Given the description of an element on the screen output the (x, y) to click on. 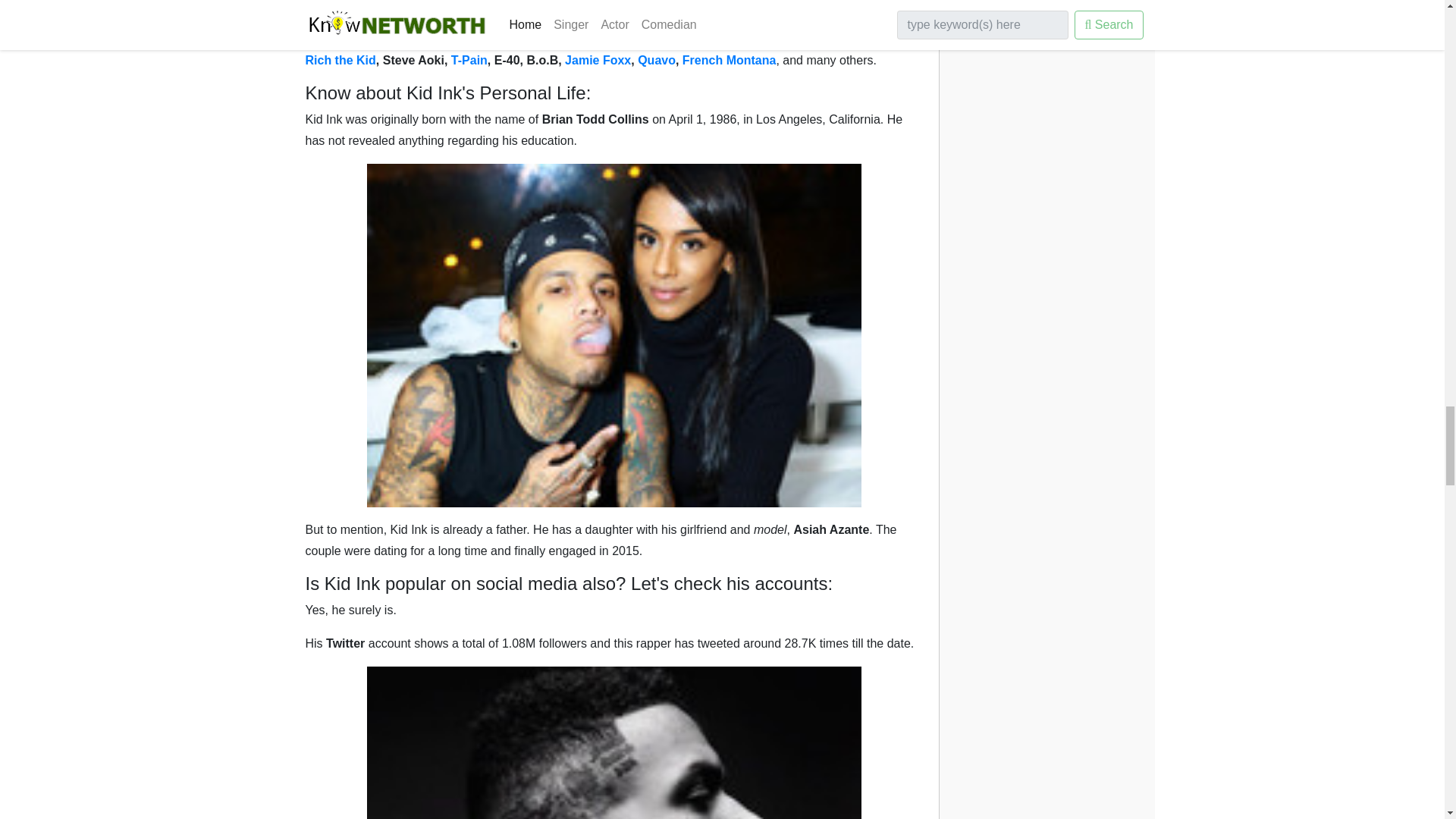
Jamie Foxx (597, 60)
Usher (677, 6)
Rich the Kid (339, 60)
Jeremih (867, 38)
Tyga (536, 6)
French Montana (729, 60)
Quavo (656, 60)
T-Pain (469, 60)
Chris Brown (407, 6)
